Given the description of an element on the screen output the (x, y) to click on. 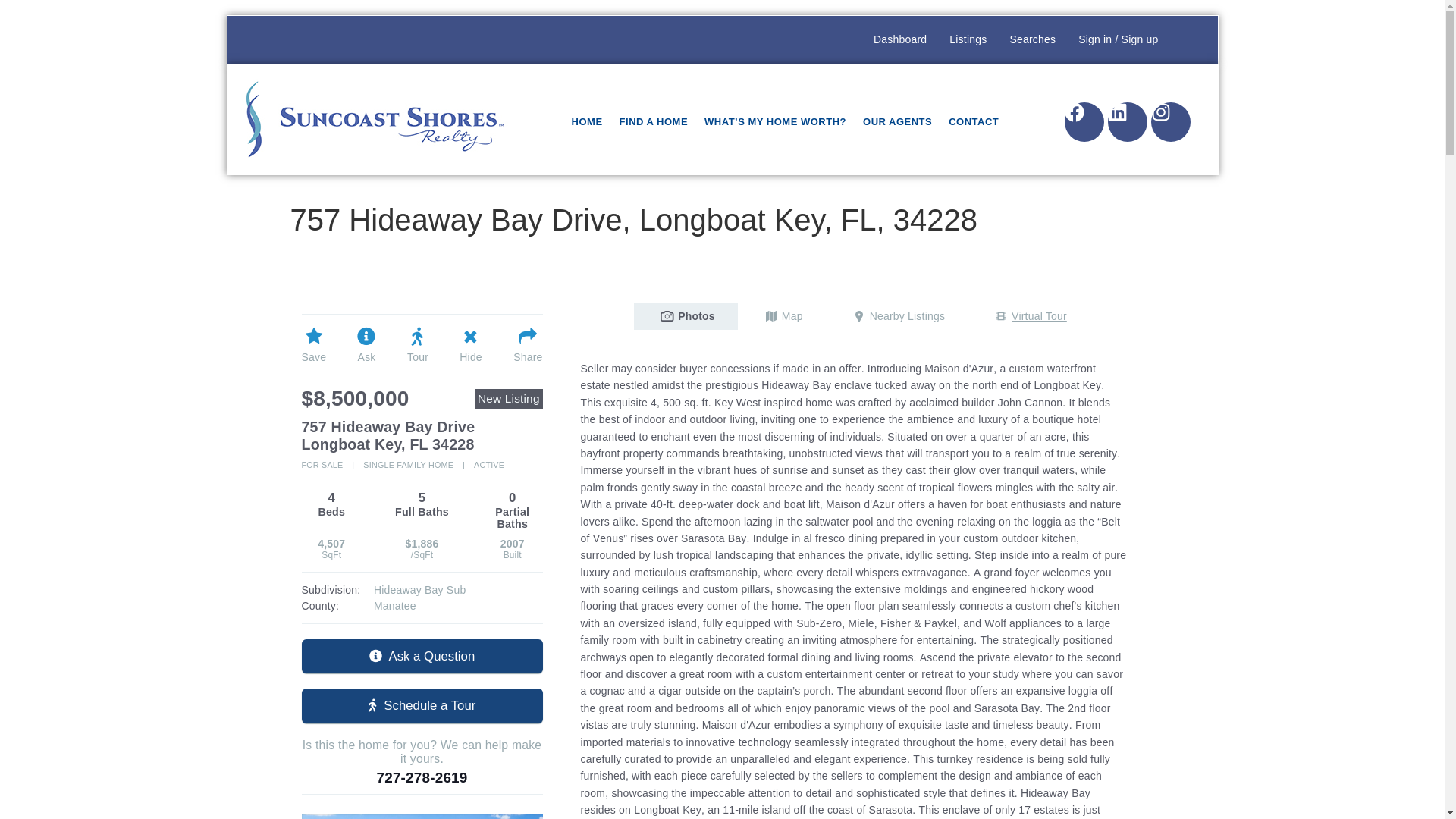
Searches (1032, 39)
HOME (587, 121)
FIND A HOME (653, 121)
Search (806, 266)
Dashboard (873, 266)
Ask a Question (422, 656)
Searches (1006, 266)
Virtual Tour (1028, 316)
Dashboard (899, 39)
Listings (941, 266)
